Given the description of an element on the screen output the (x, y) to click on. 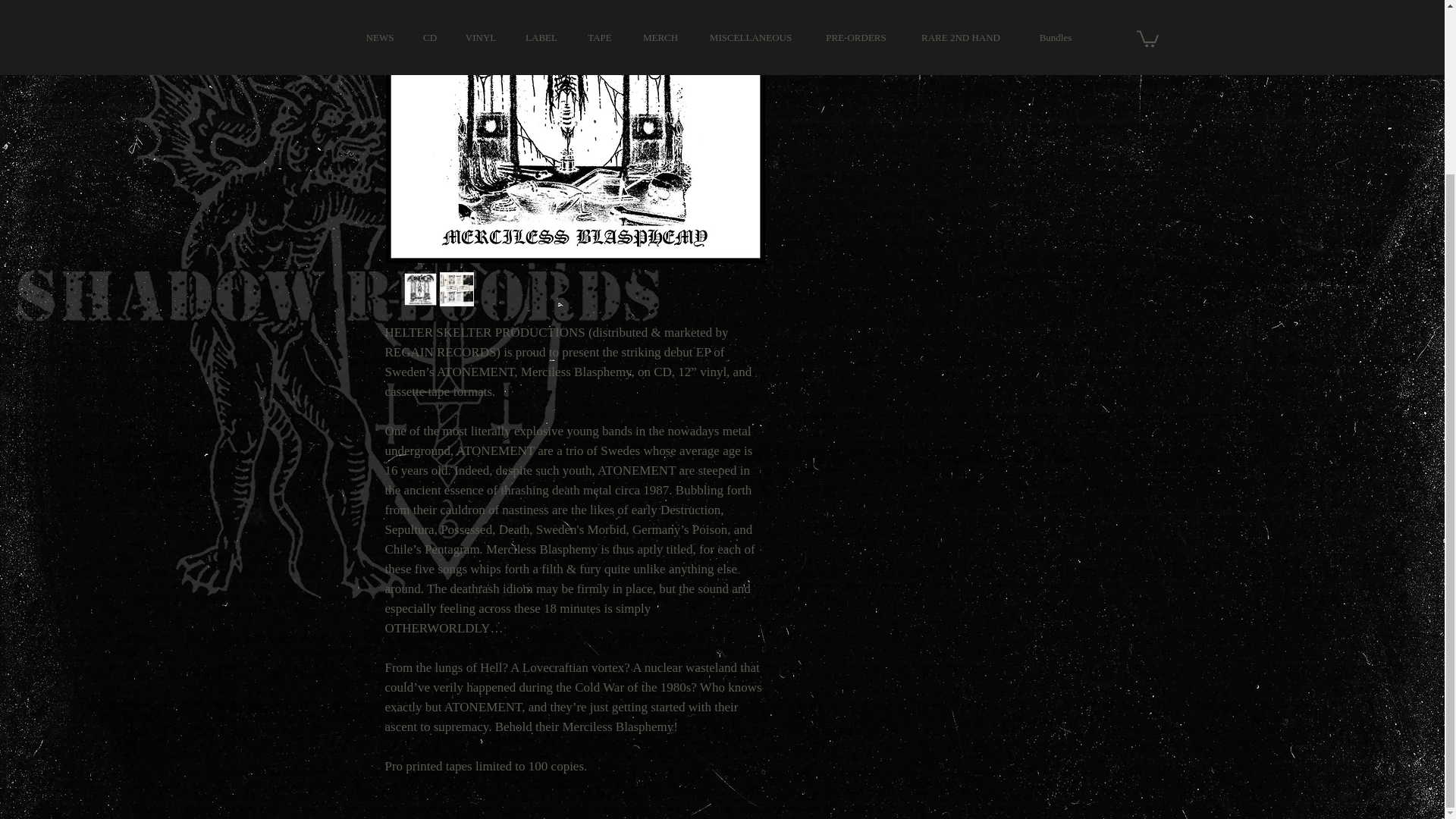
Out of Stock (924, 6)
